Given the description of an element on the screen output the (x, y) to click on. 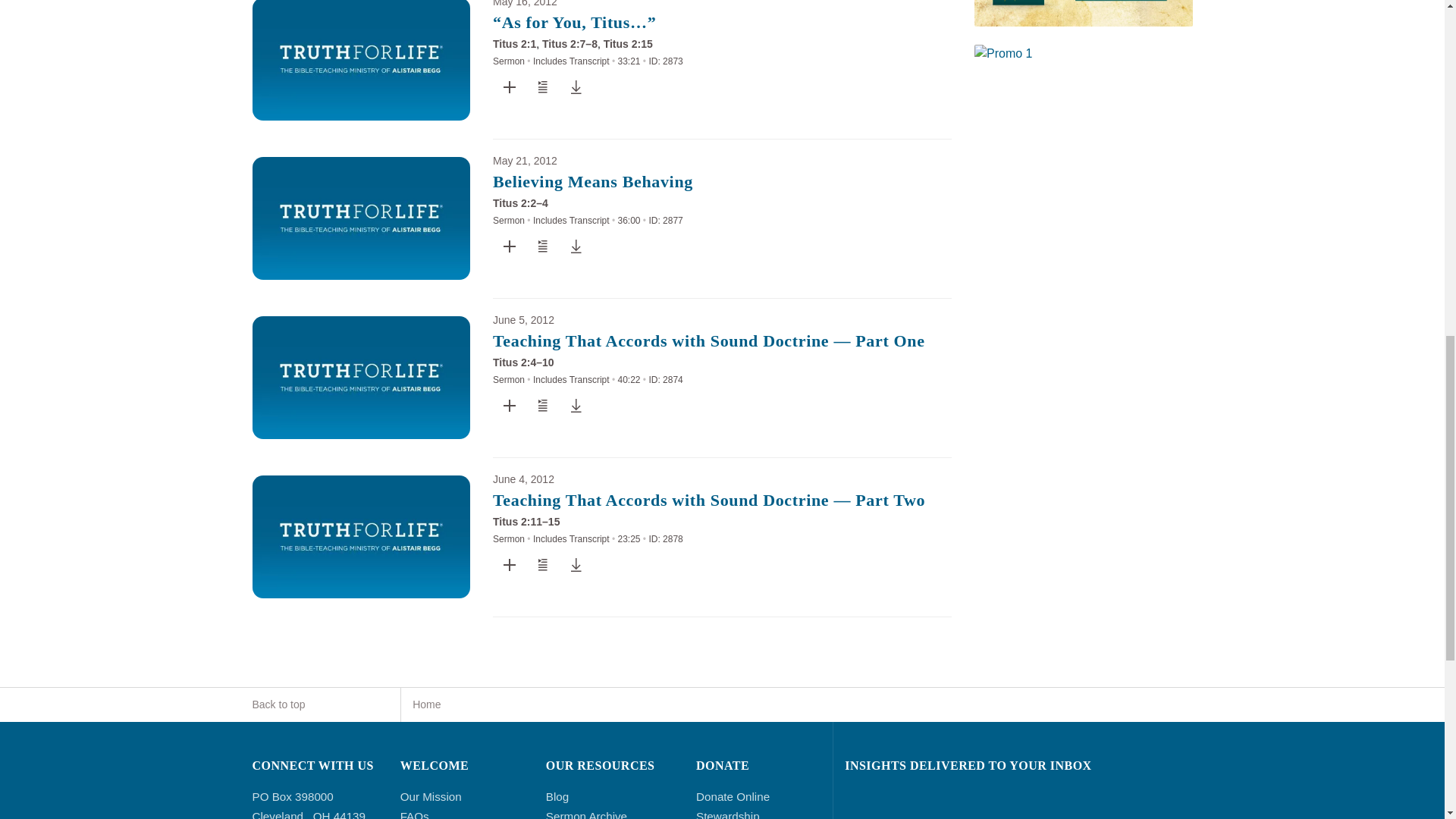
Add to My Library (509, 246)
Add to My Library (509, 87)
Listen Queue (542, 87)
Add to My Library (509, 86)
Add to My Library (509, 246)
Add to Listen Queue (542, 86)
Download Free (575, 87)
Add to Listen Queue (542, 246)
Listen Queue (542, 246)
